Given the description of an element on the screen output the (x, y) to click on. 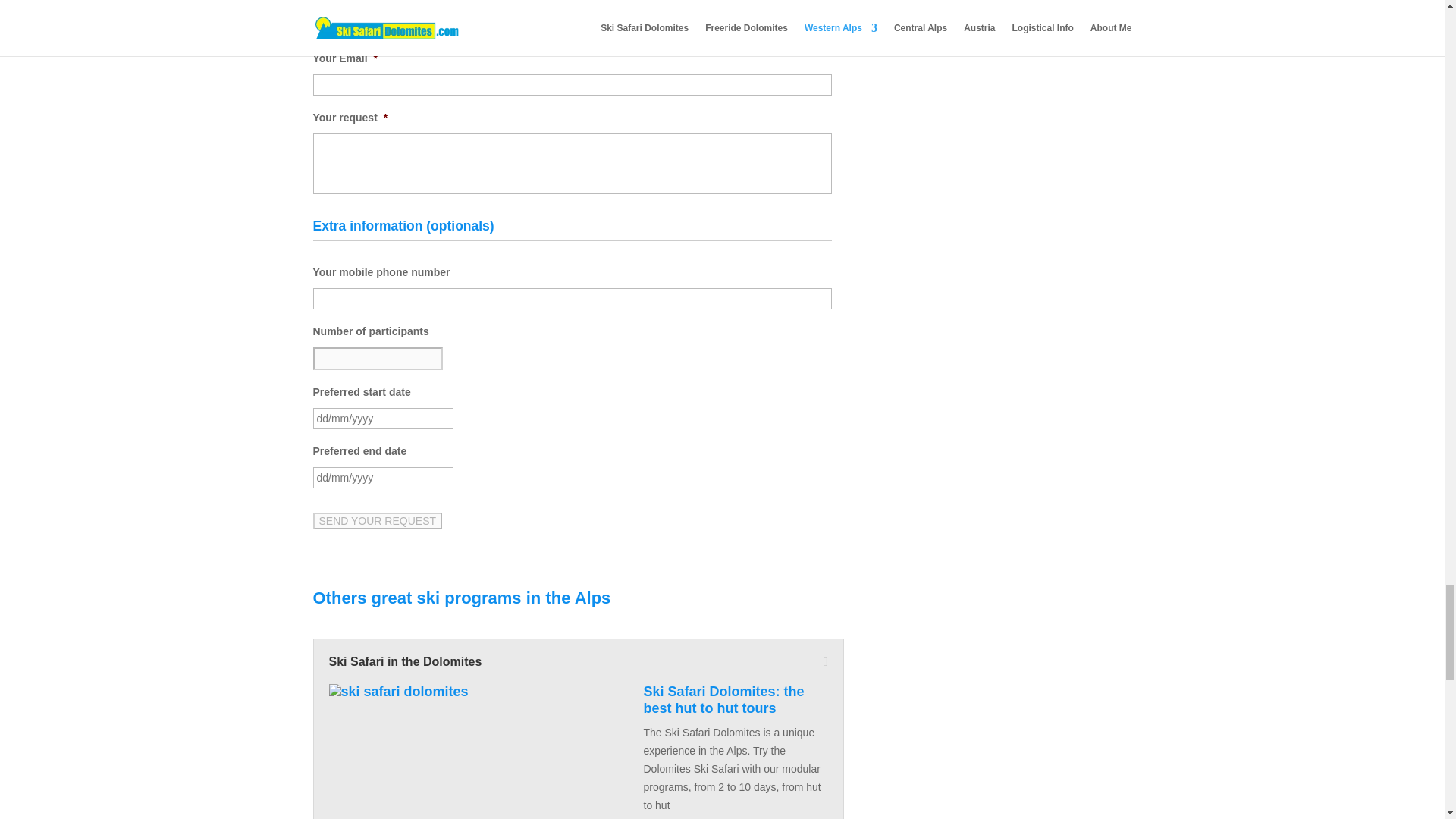
SEND YOUR REQUEST (377, 520)
SEND YOUR REQUEST (377, 520)
